Given the description of an element on the screen output the (x, y) to click on. 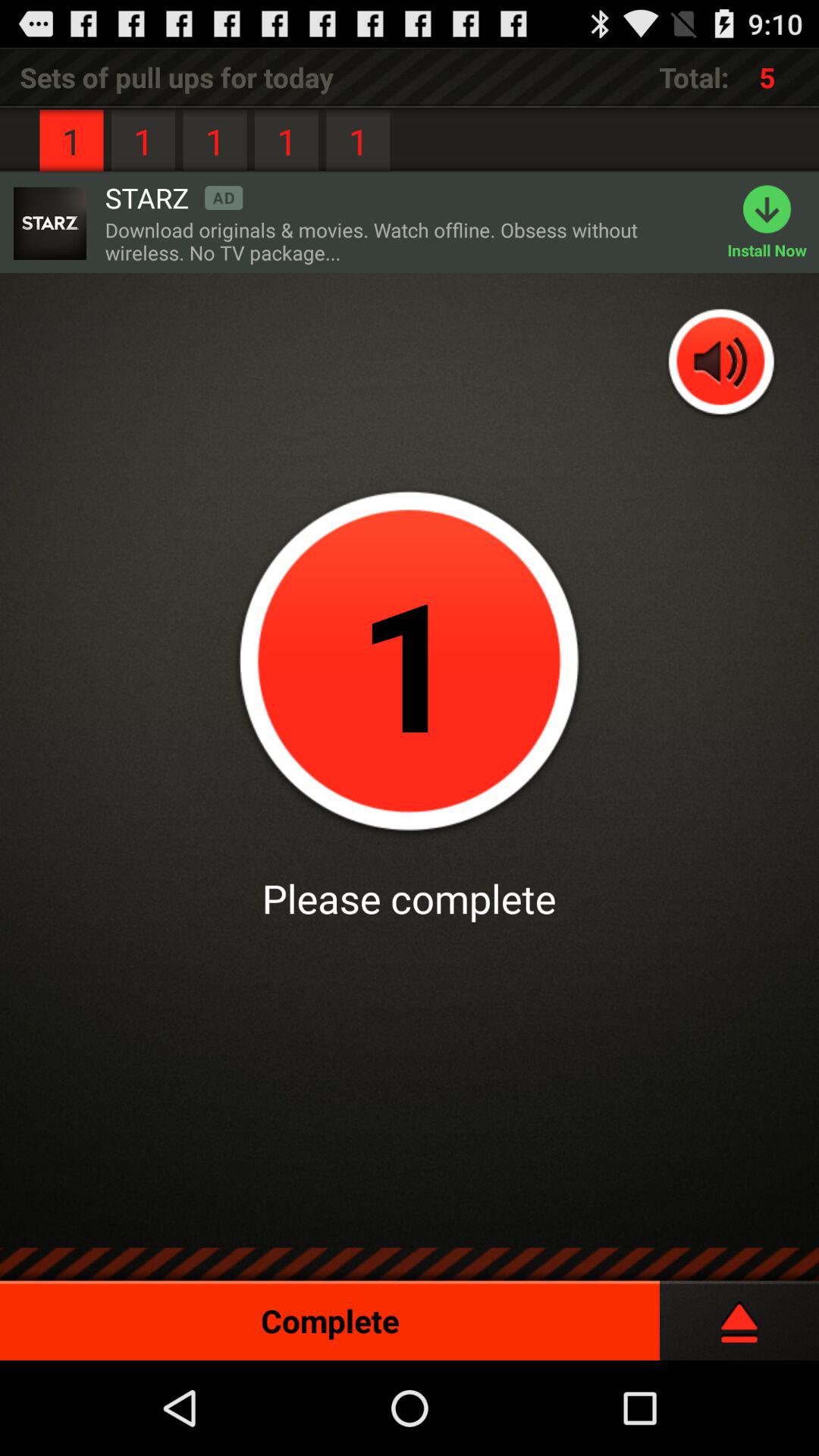
volume level (721, 363)
